Given the description of an element on the screen output the (x, y) to click on. 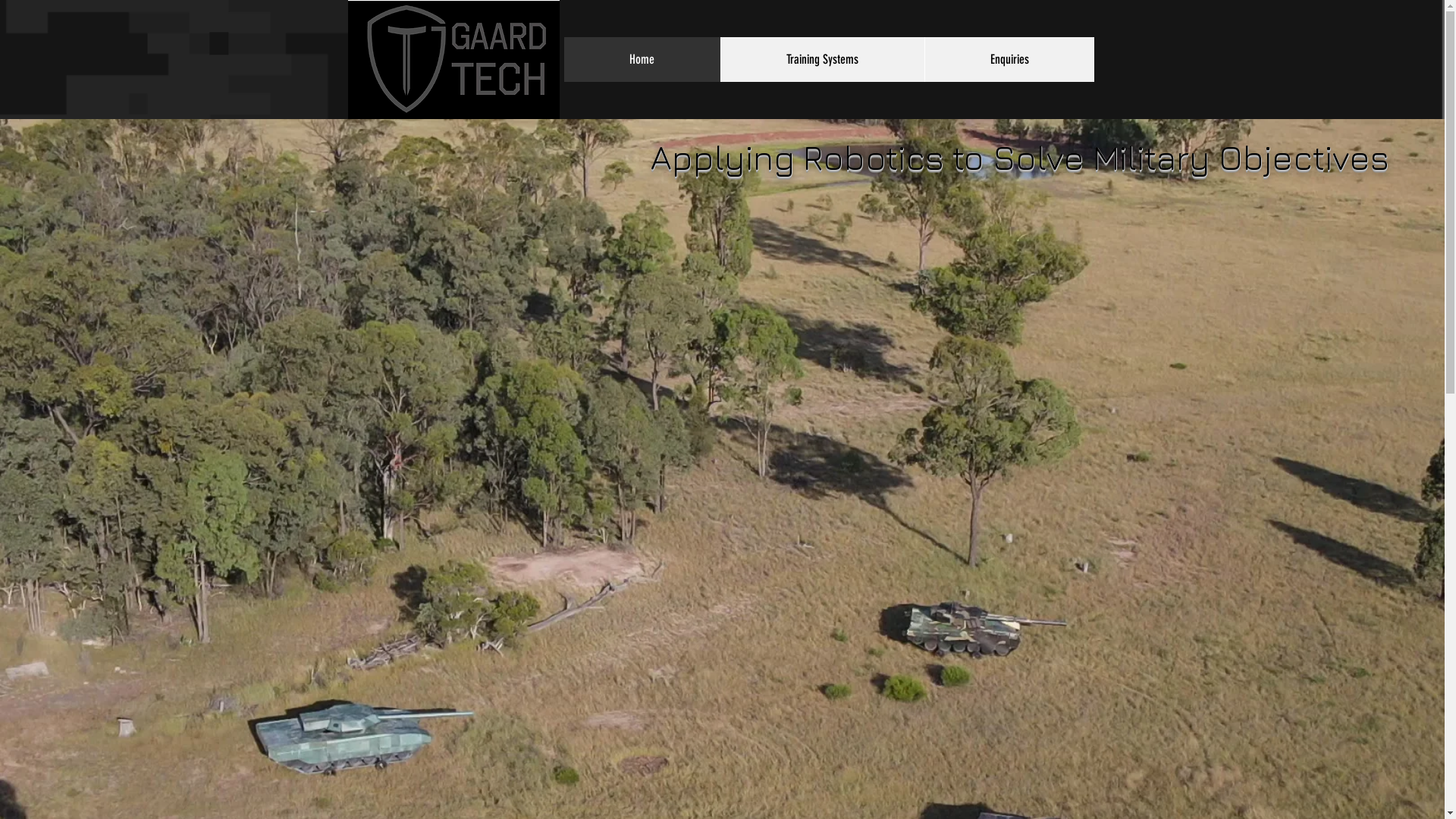
Training Systems Element type: text (822, 59)
Enquiries Element type: text (1008, 59)
Home Element type: text (642, 59)
